Given the description of an element on the screen output the (x, y) to click on. 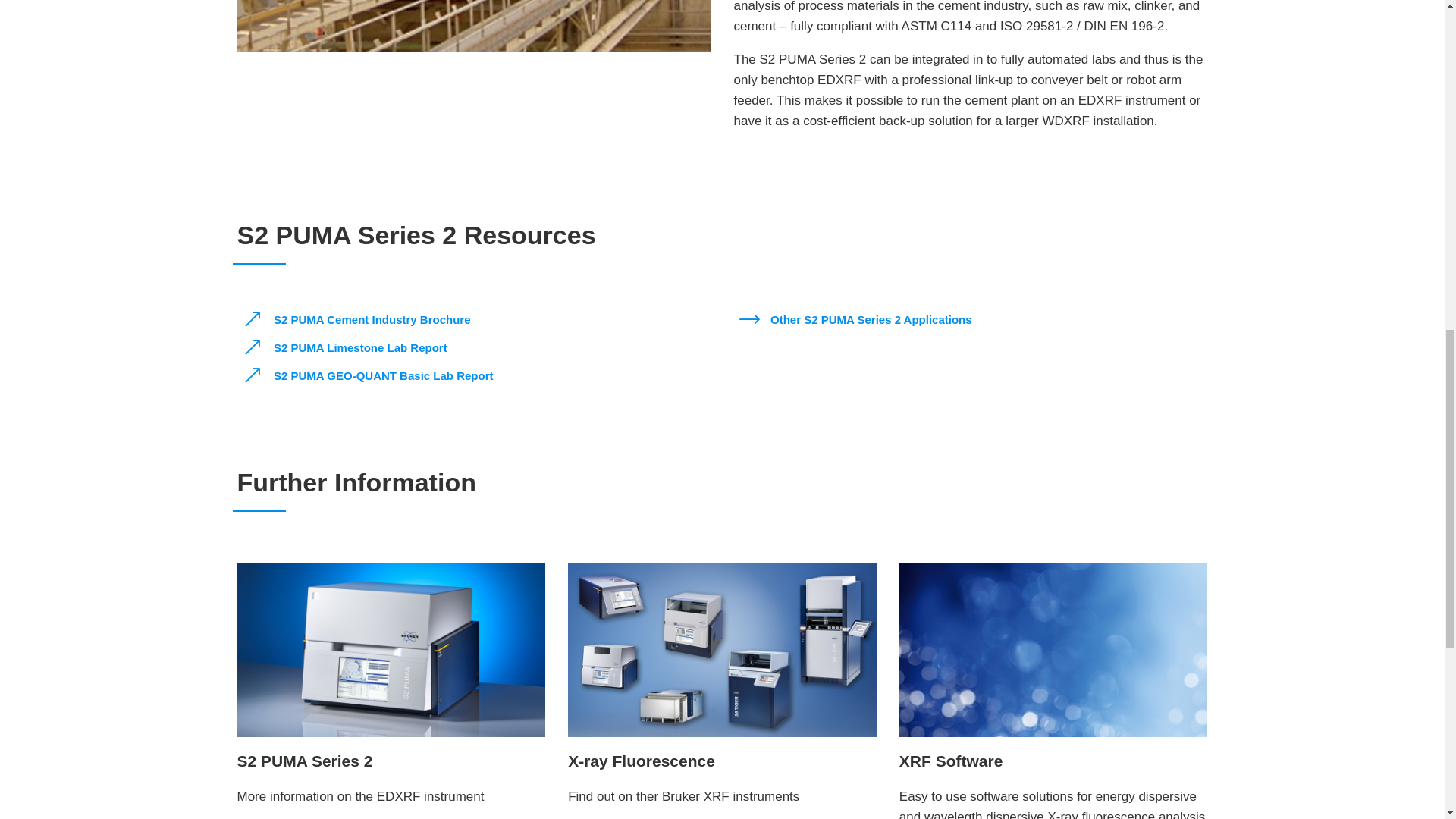
S2 PUMA Limestone Lab Report (347, 347)
S2 PUMA GEO-QUANT Basic Lab Report (370, 375)
Other S2 PUMA Series 2 Applications (857, 319)
S2 PUMA Cement Industry Brochure (360, 319)
